Given the description of an element on the screen output the (x, y) to click on. 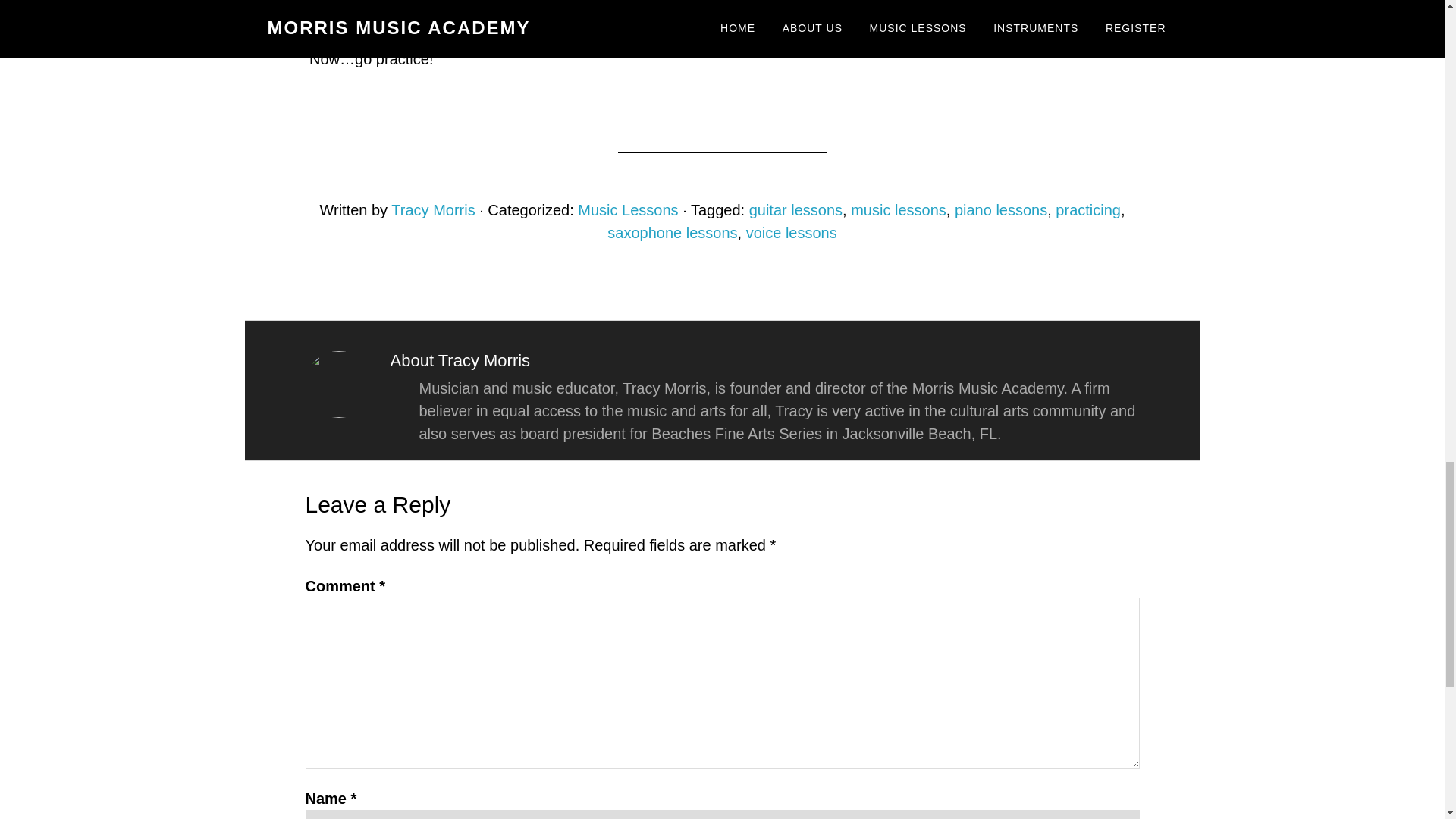
voice lessons (791, 232)
music lessons (898, 209)
piano lessons (1000, 209)
Music Lessons (628, 209)
Tracy Morris (432, 209)
saxophone lessons (671, 232)
contact page (947, 36)
practicing (1088, 209)
guitar lessons (796, 209)
